Given the description of an element on the screen output the (x, y) to click on. 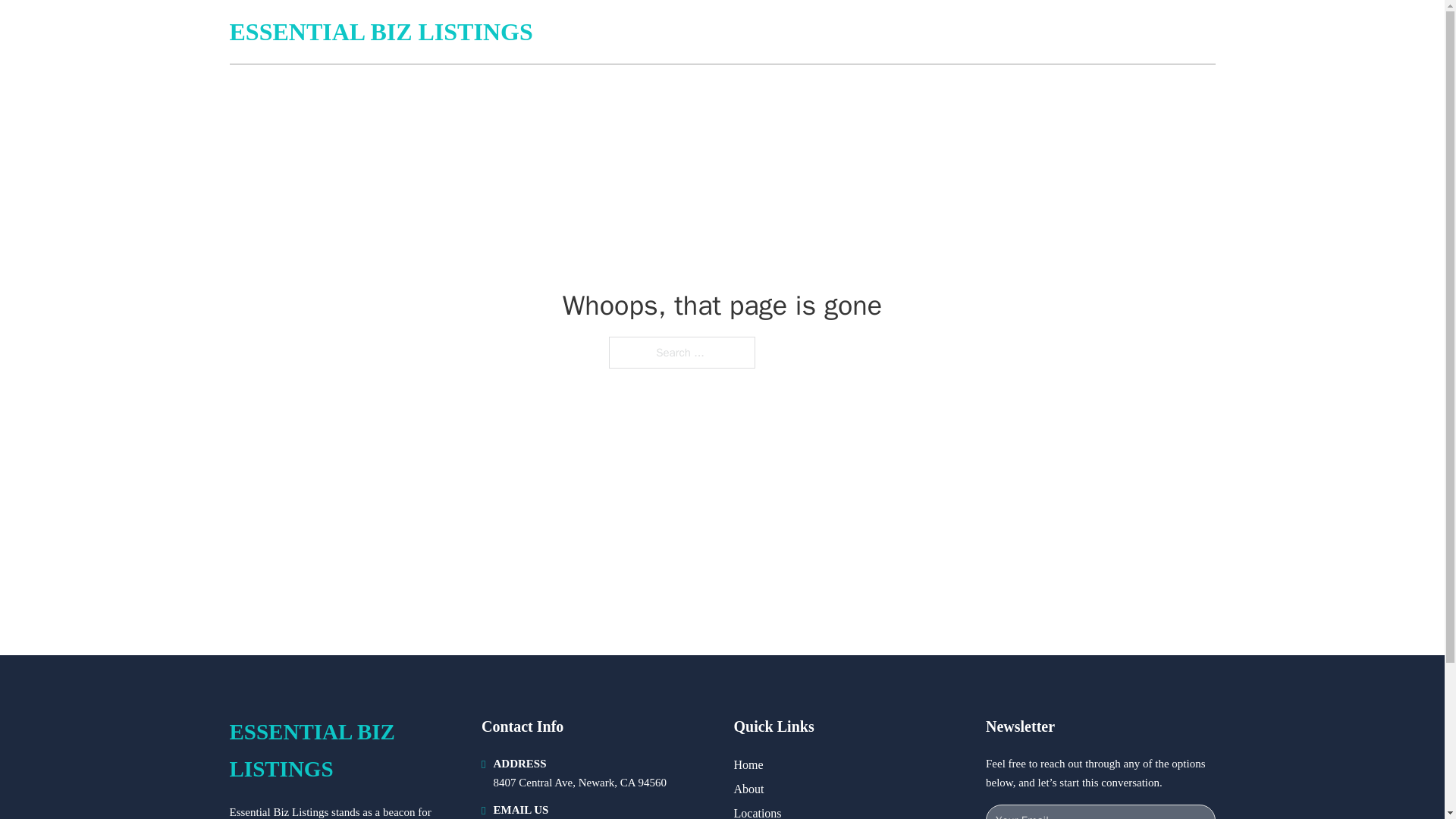
Locations (757, 811)
Home (747, 764)
ESSENTIAL BIZ LISTINGS (343, 750)
About (748, 788)
HOME (1032, 31)
ESSENTIAL BIZ LISTINGS (380, 31)
LOCATIONS (1105, 31)
